Given the description of an element on the screen output the (x, y) to click on. 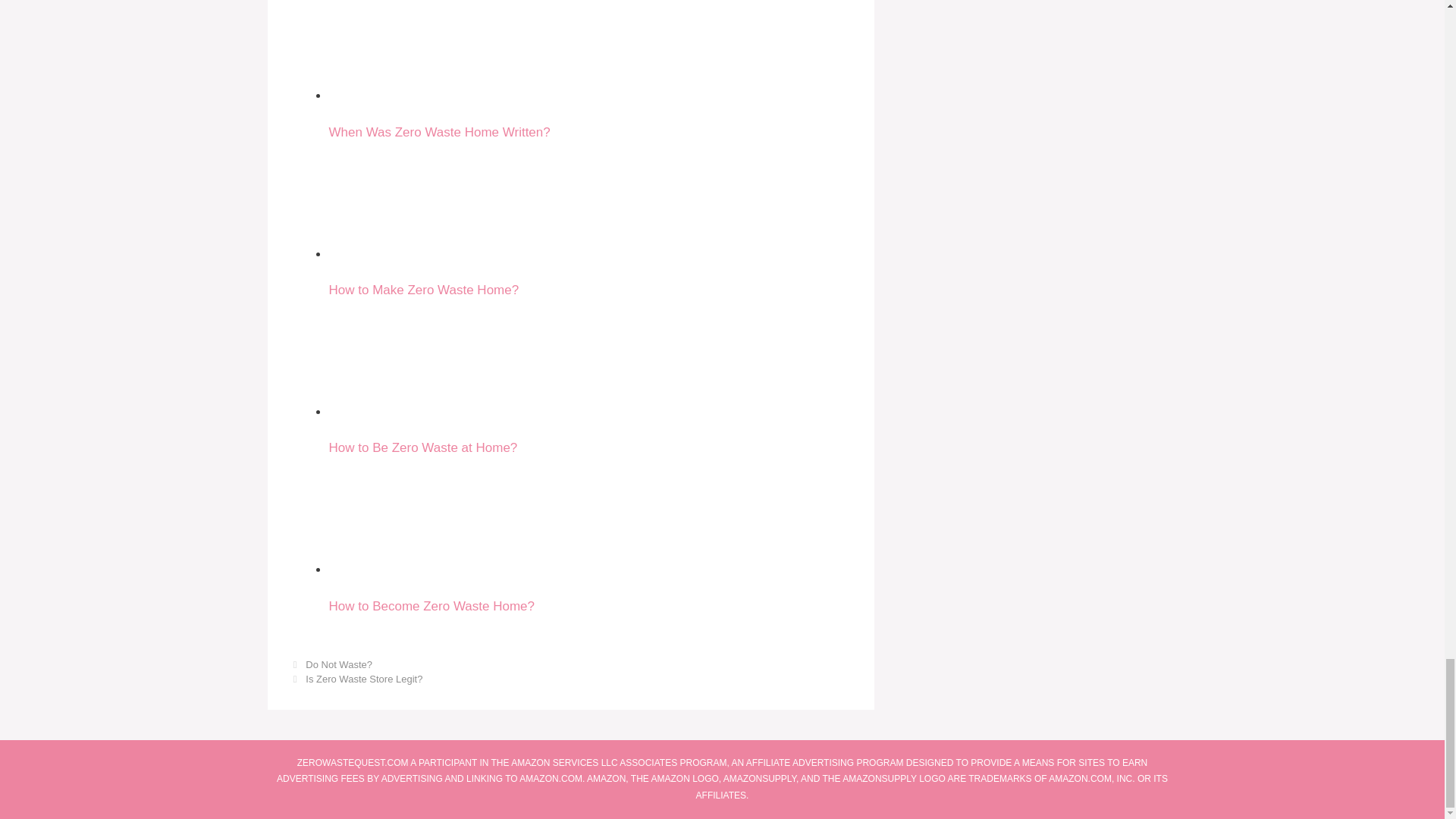
When Was Zero Waste Home Written? (590, 69)
How to Be Zero Waste at Home? (385, 359)
How to Be Zero Waste at Home? (590, 378)
When Was Zero Waste Home Written? (385, 49)
How to Become Zero Waste Home? (590, 536)
How to Make Zero Waste Home? (590, 221)
How to Become Zero Waste Home? (385, 517)
Do Not Waste? (338, 664)
How to Make Zero Waste Home? (385, 201)
Is Zero Waste Store Legit? (363, 678)
